Given the description of an element on the screen output the (x, y) to click on. 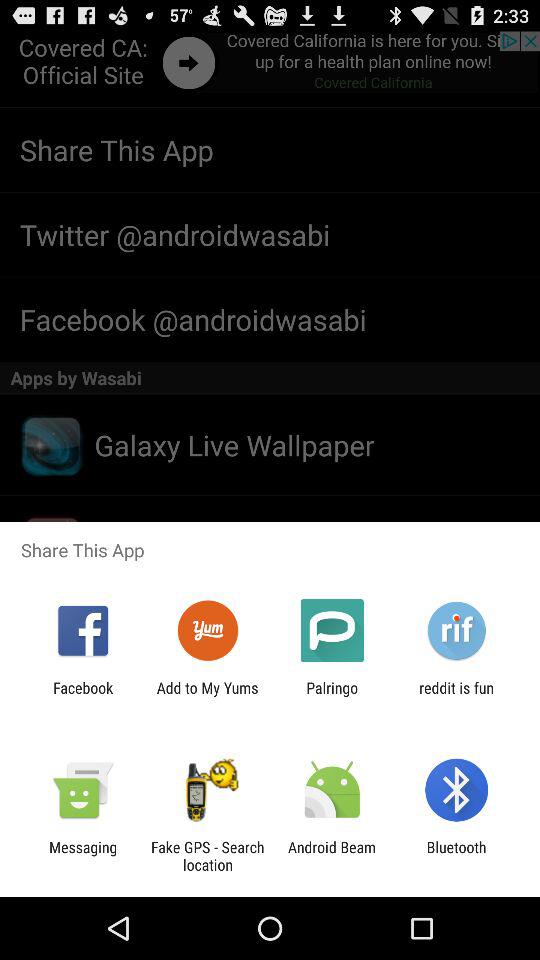
choose the icon next to the fake gps search app (83, 856)
